Given the description of an element on the screen output the (x, y) to click on. 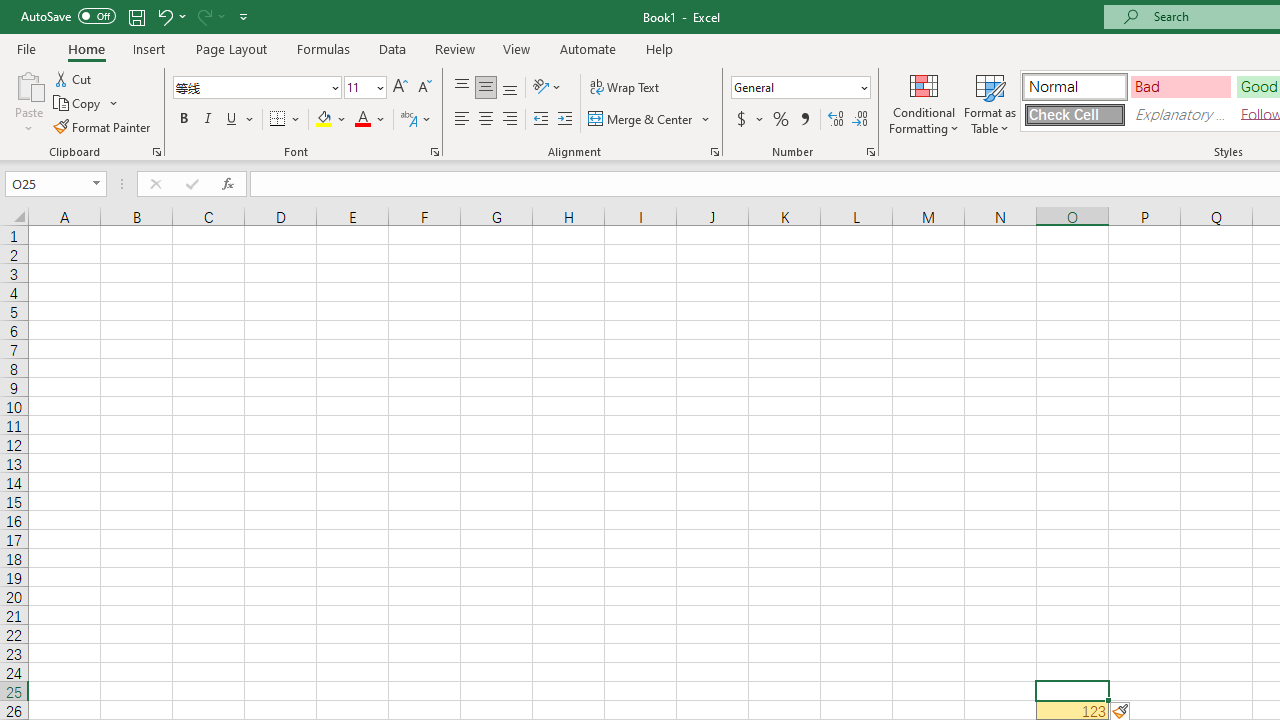
Normal (1074, 86)
Underline (239, 119)
Formulas (323, 48)
Format as Table (990, 102)
Font Color (370, 119)
Show Phonetic Field (408, 119)
File Tab (26, 48)
Quick Access Toolbar (136, 16)
Explanatory Text (1180, 114)
Increase Indent (565, 119)
Check Cell (1074, 114)
Number Format (800, 87)
Font Size (358, 87)
Paste (28, 102)
Orientation (547, 87)
